Given the description of an element on the screen output the (x, y) to click on. 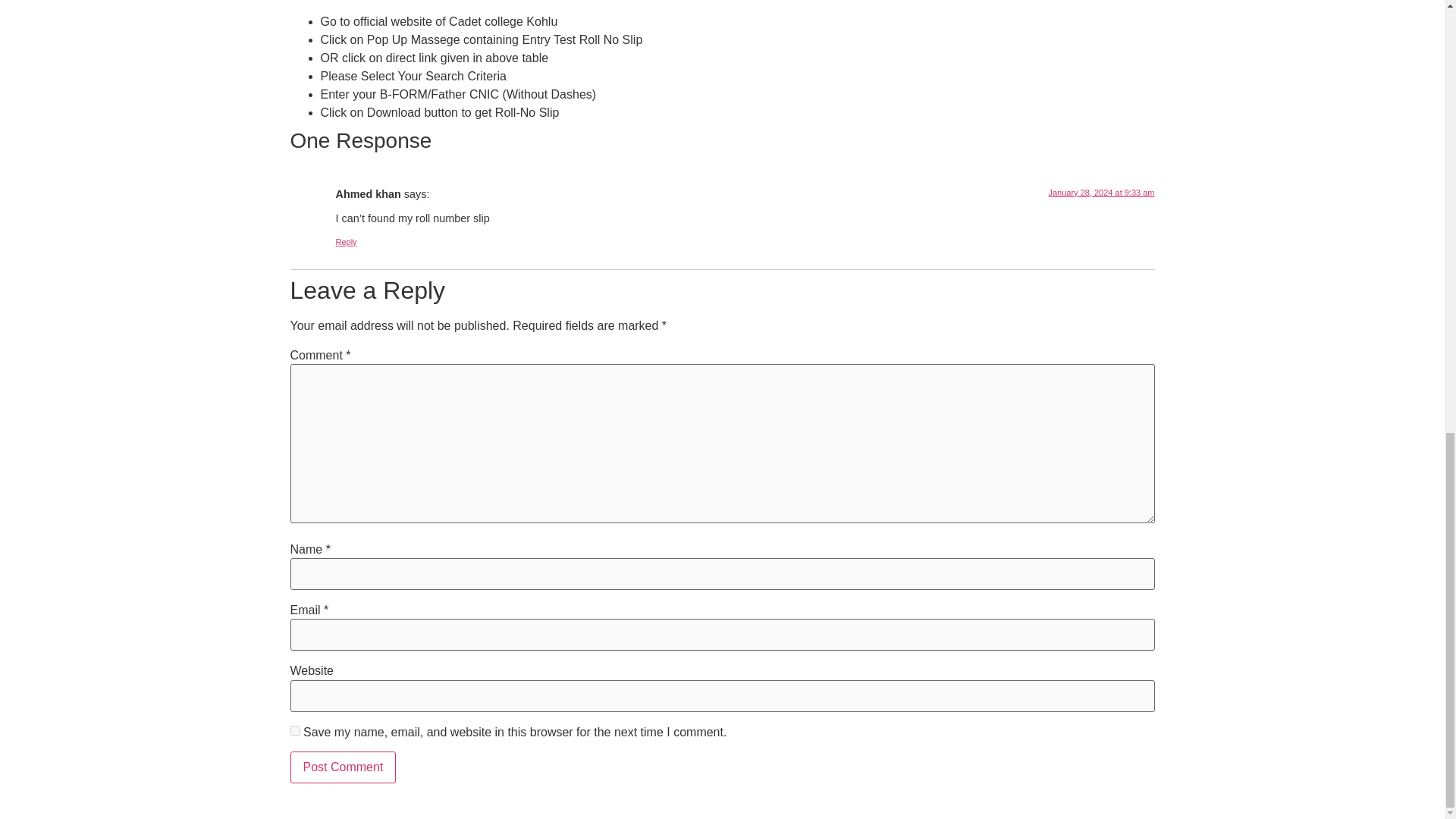
Post Comment (342, 766)
Reply (345, 241)
Post Comment (342, 766)
yes (294, 730)
January 28, 2024 at 9:33 am (1101, 192)
